Given the description of an element on the screen output the (x, y) to click on. 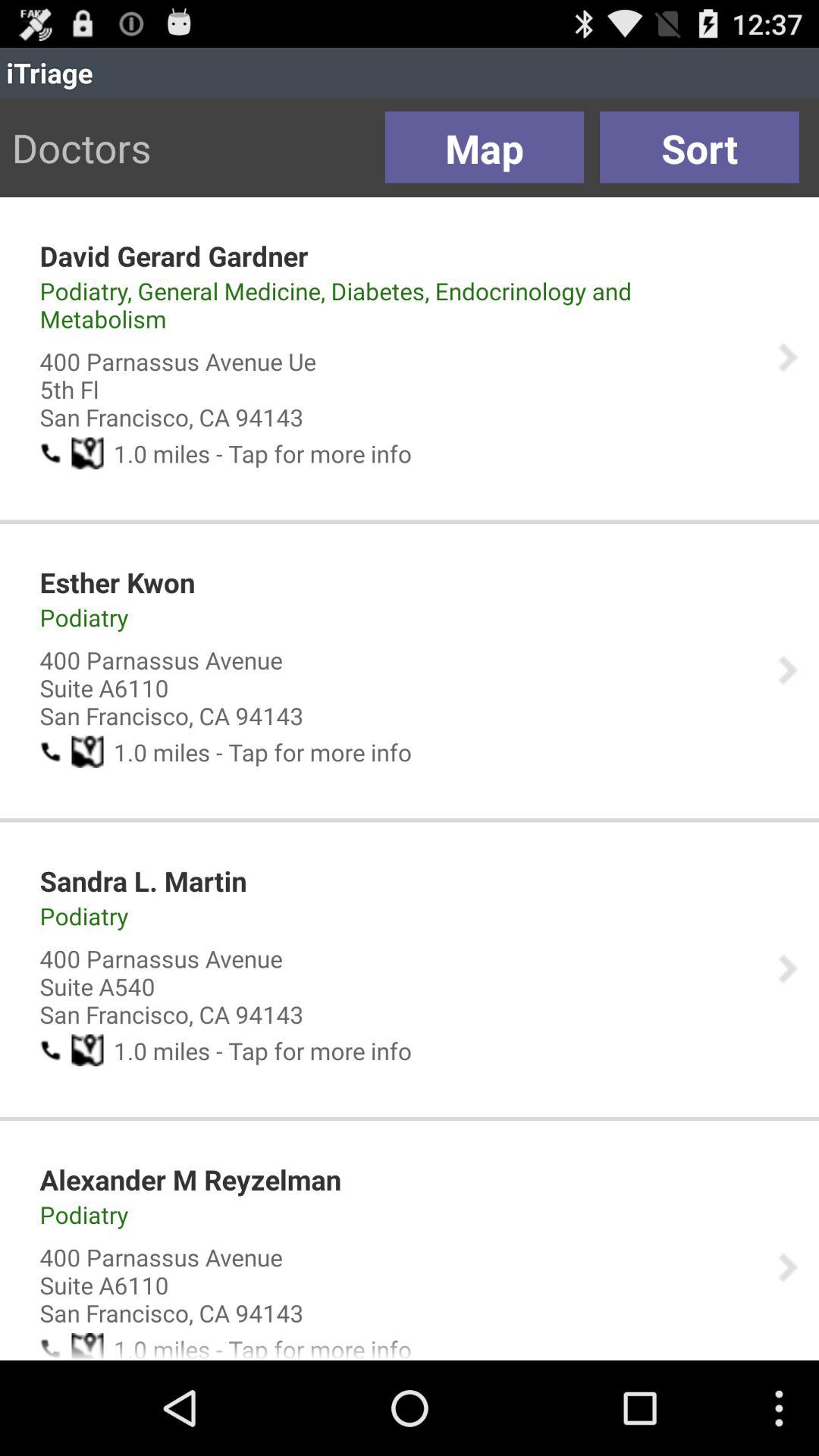
choose item above podiatry general medicine (173, 255)
